Given the description of an element on the screen output the (x, y) to click on. 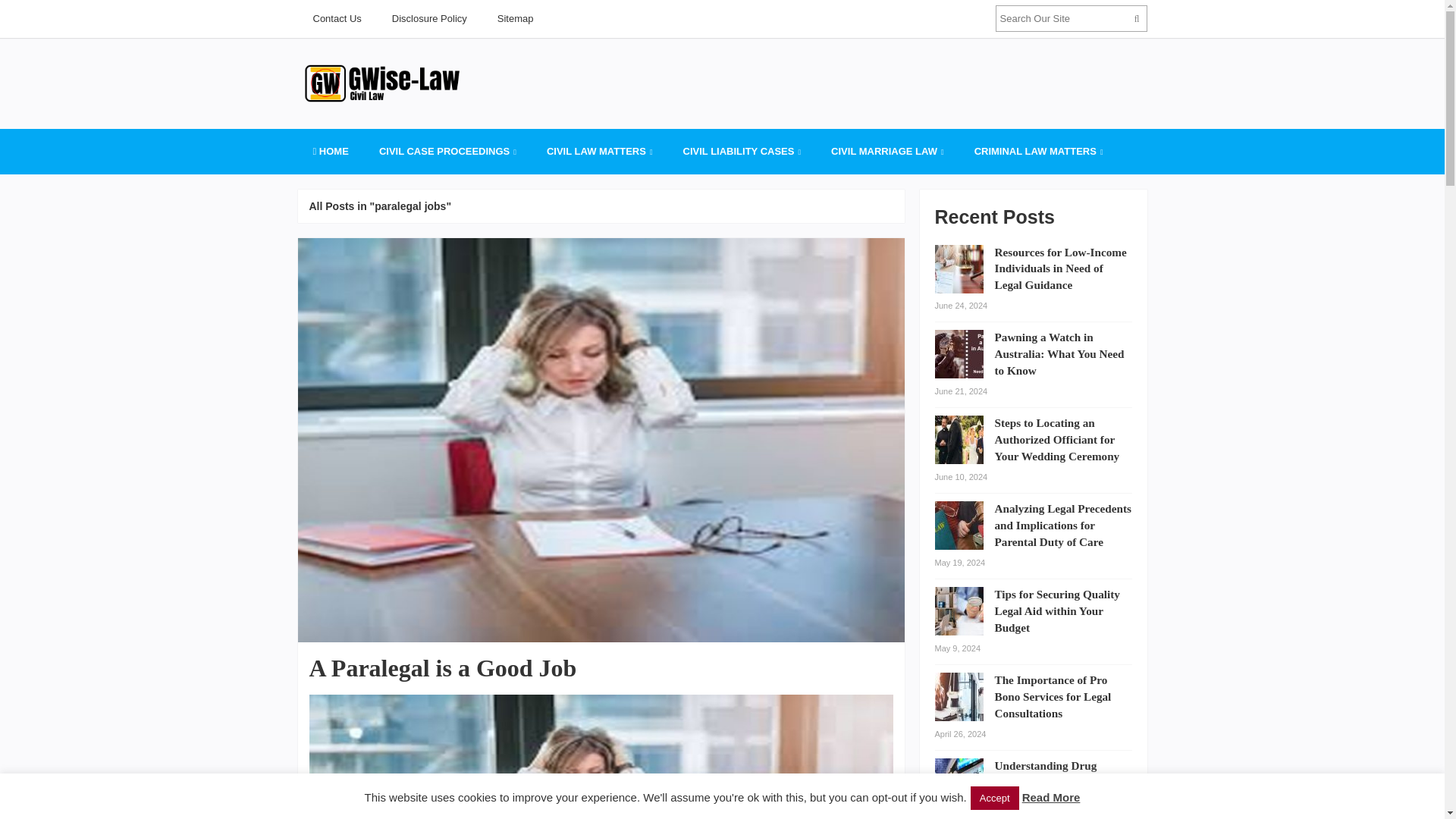
Sitemap (514, 18)
Disclosure Policy (429, 18)
Contact Us (336, 18)
